Given the description of an element on the screen output the (x, y) to click on. 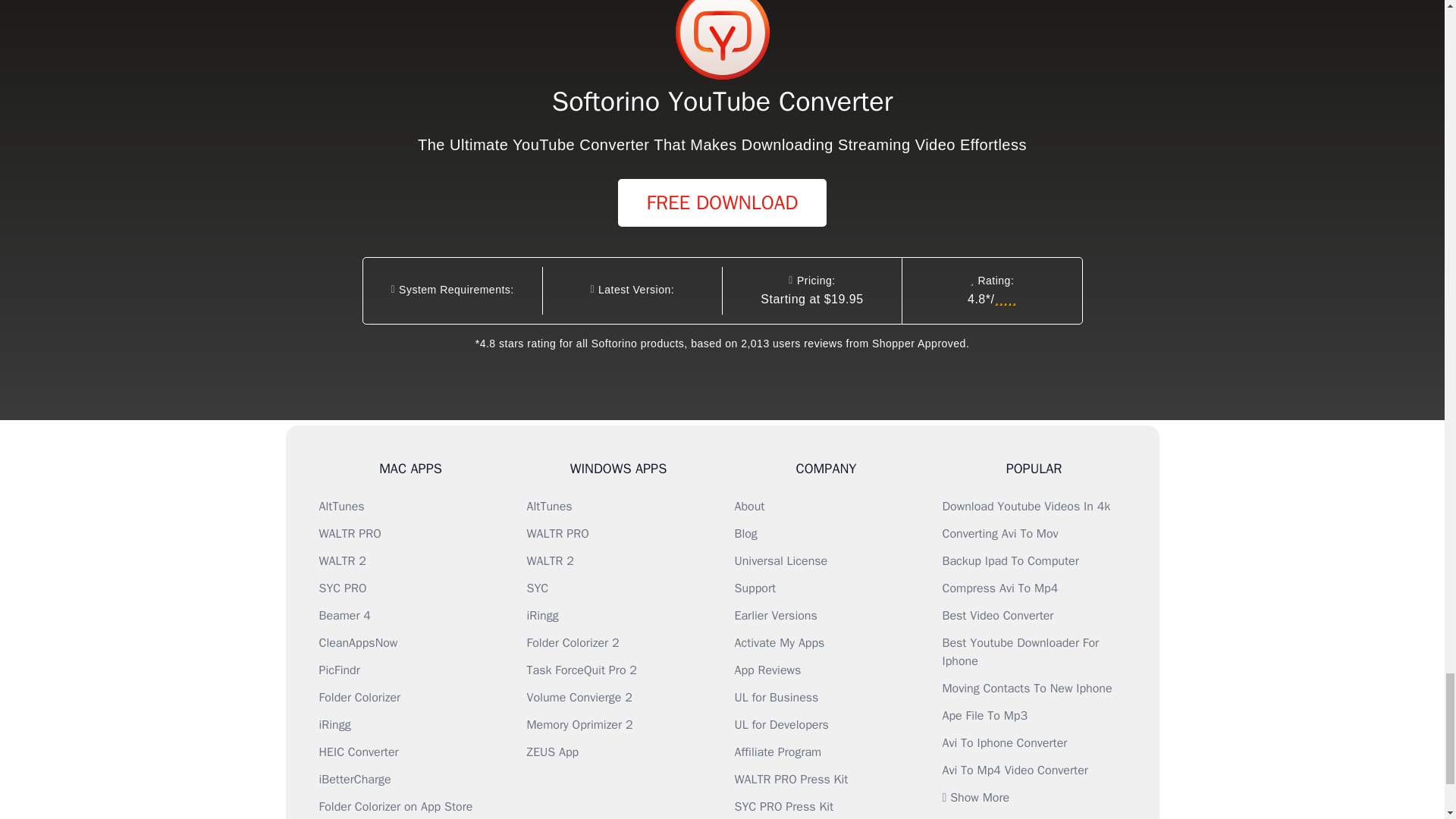
backup ipad to computer (1010, 560)
avi to mp4 video converter (1014, 770)
converting avi to mov (1000, 533)
compress avi to mp4 (1000, 588)
download youtube videos in 4k (1025, 506)
best video converter (997, 615)
avi to iphone converter (1004, 743)
moving contacts to new iphone (1027, 688)
best youtube downloader for iphone (1020, 652)
ape file to mp3 (984, 715)
